Given the description of an element on the screen output the (x, y) to click on. 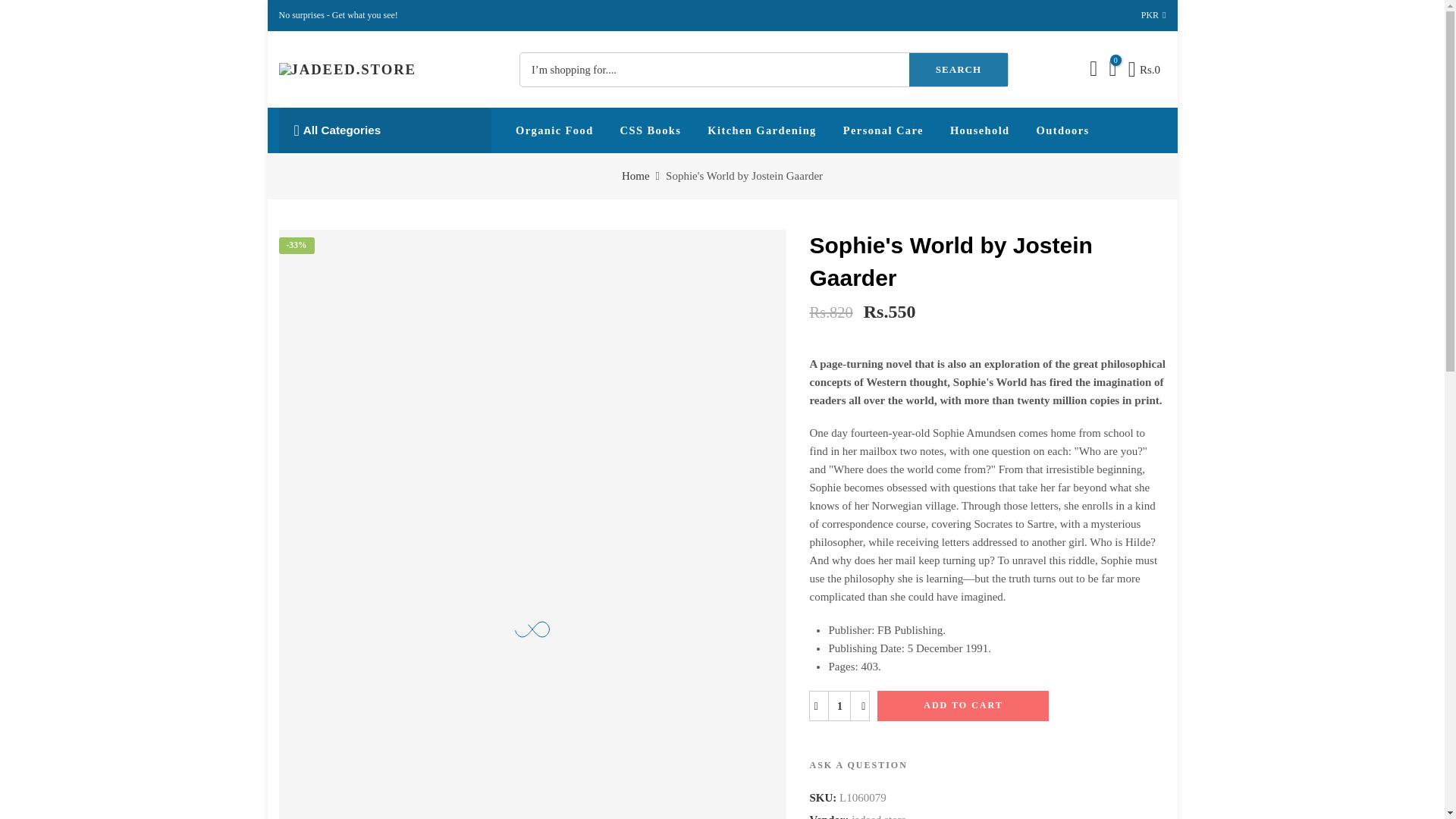
Home (635, 176)
Organic Food (554, 130)
Personal Care (882, 130)
jadeed.store (878, 814)
SEARCH (957, 69)
CSS Books (650, 130)
ADD TO CART (962, 706)
Household (979, 130)
Rs.0 (1144, 69)
Kitchen Gardening (761, 130)
ASK A QUESTION (858, 765)
jadeed.store (878, 814)
Outdoors (1062, 130)
